Given the description of an element on the screen output the (x, y) to click on. 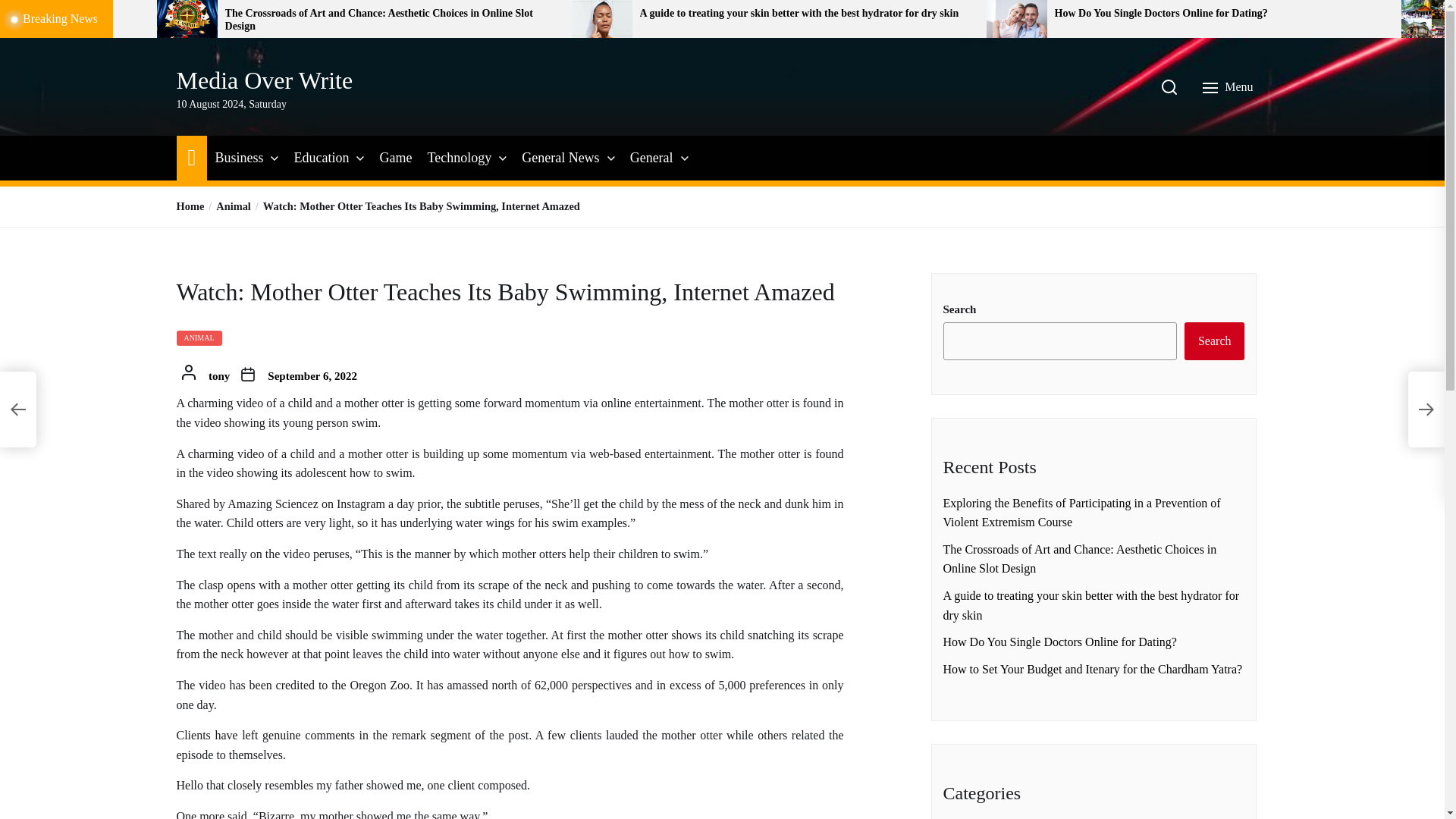
How Do You Single Doctors Online for Dating? (1222, 13)
